Given the description of an element on the screen output the (x, y) to click on. 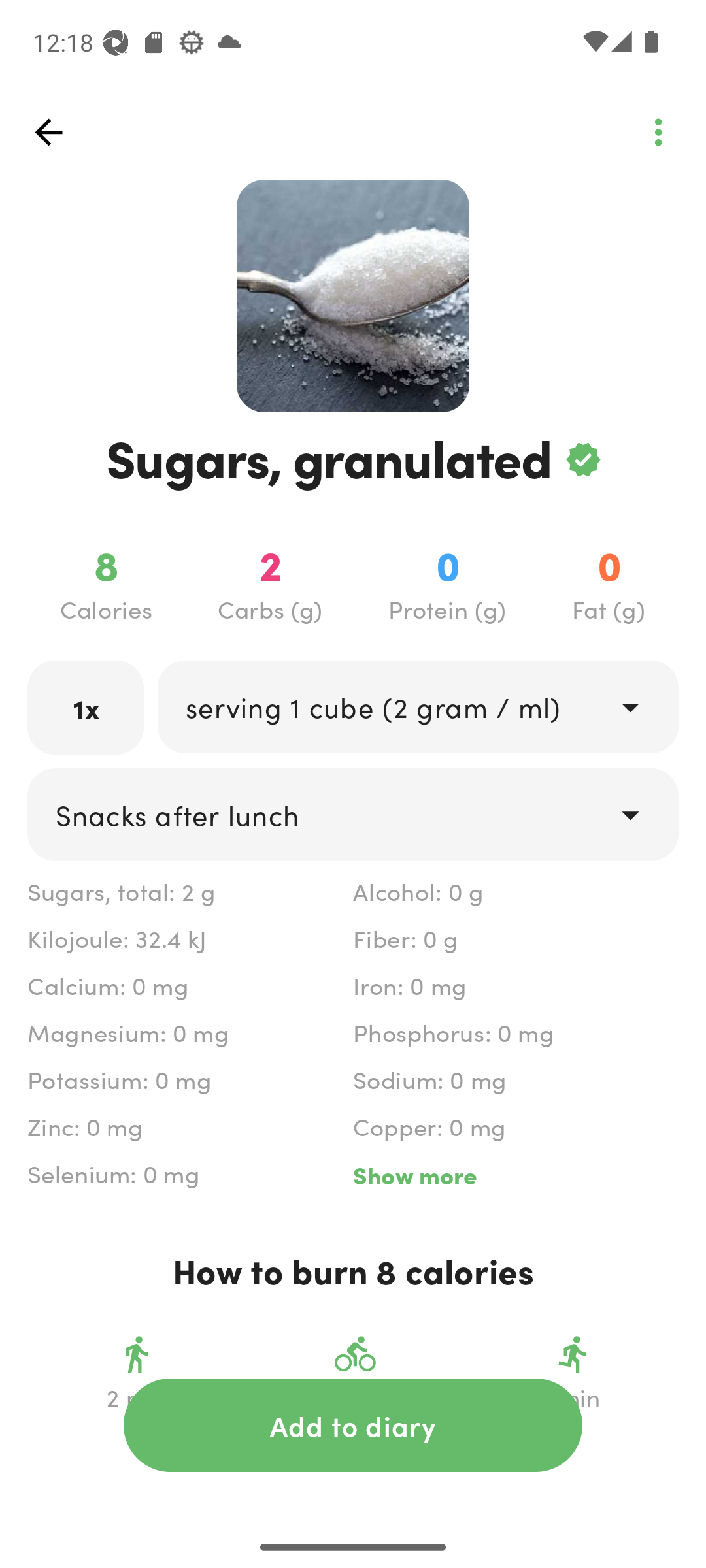
top_left_action (48, 132)
top_left_action (658, 132)
1x labeled_edit_text (85, 707)
drop_down serving 1 cube (2 gram / ml) (417, 706)
drop_down Snacks after lunch (352, 814)
Show more (515, 1174)
action_button Add to diary (352, 1425)
